Given the description of an element on the screen output the (x, y) to click on. 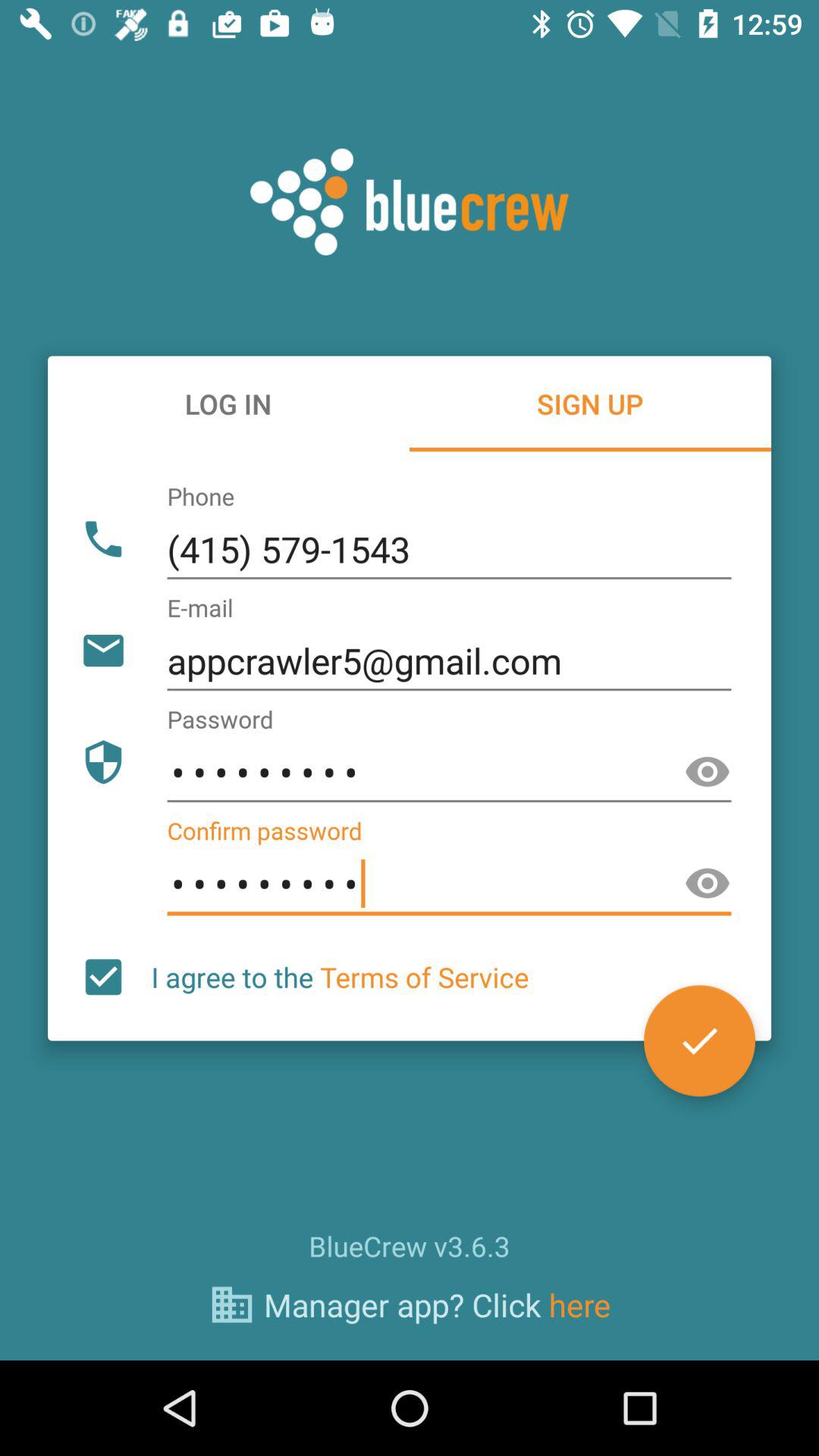
open item at the bottom right corner (699, 1040)
